Given the description of an element on the screen output the (x, y) to click on. 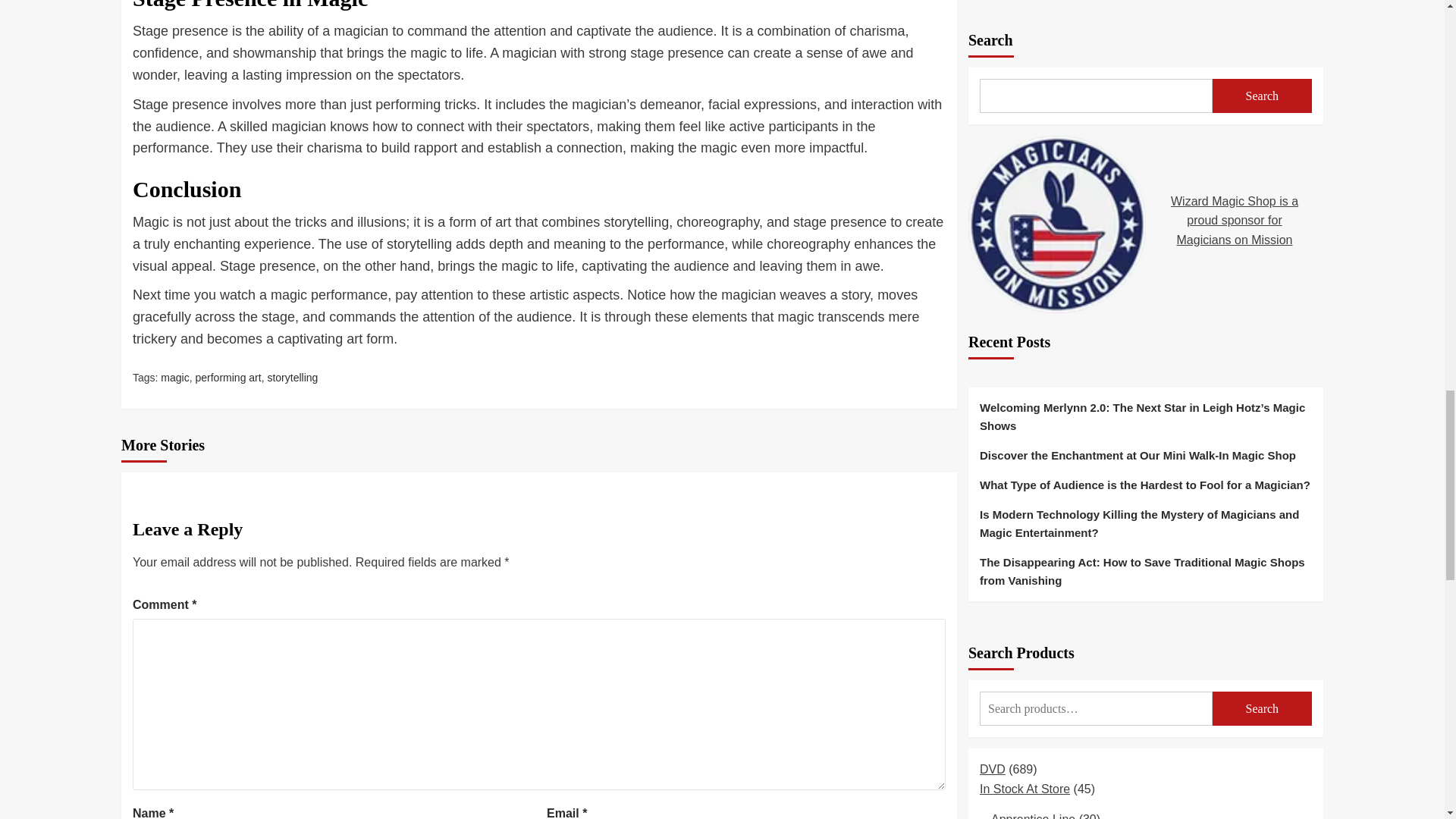
performing art (228, 377)
storytelling (291, 377)
magic (174, 377)
